Given the description of an element on the screen output the (x, y) to click on. 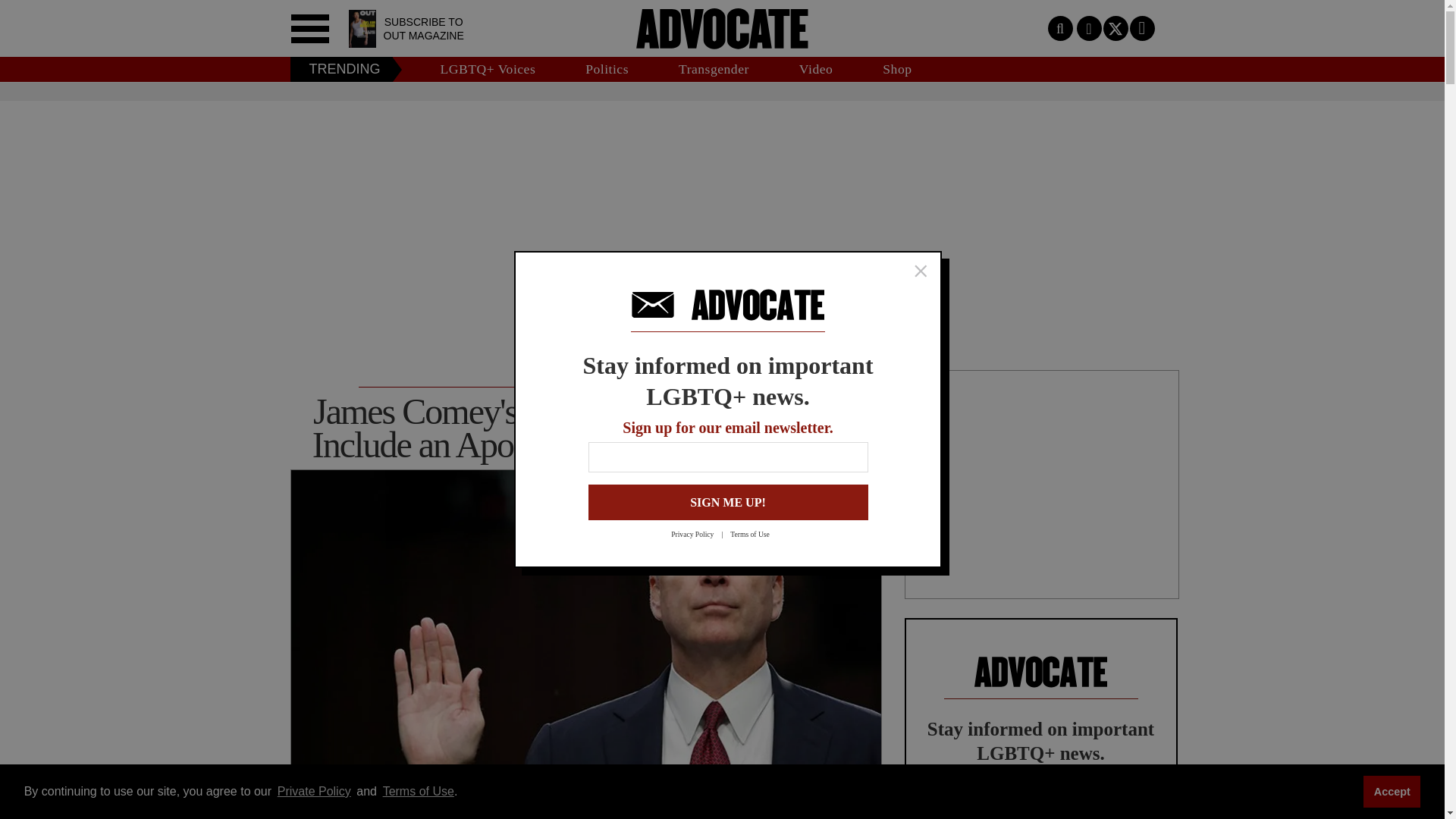
SIGN ME UP! (727, 502)
Terms of Use (757, 533)
Privacy Policy (700, 533)
3rd party ad content (721, 151)
3rd party ad content (1042, 484)
